Given the description of an element on the screen output the (x, y) to click on. 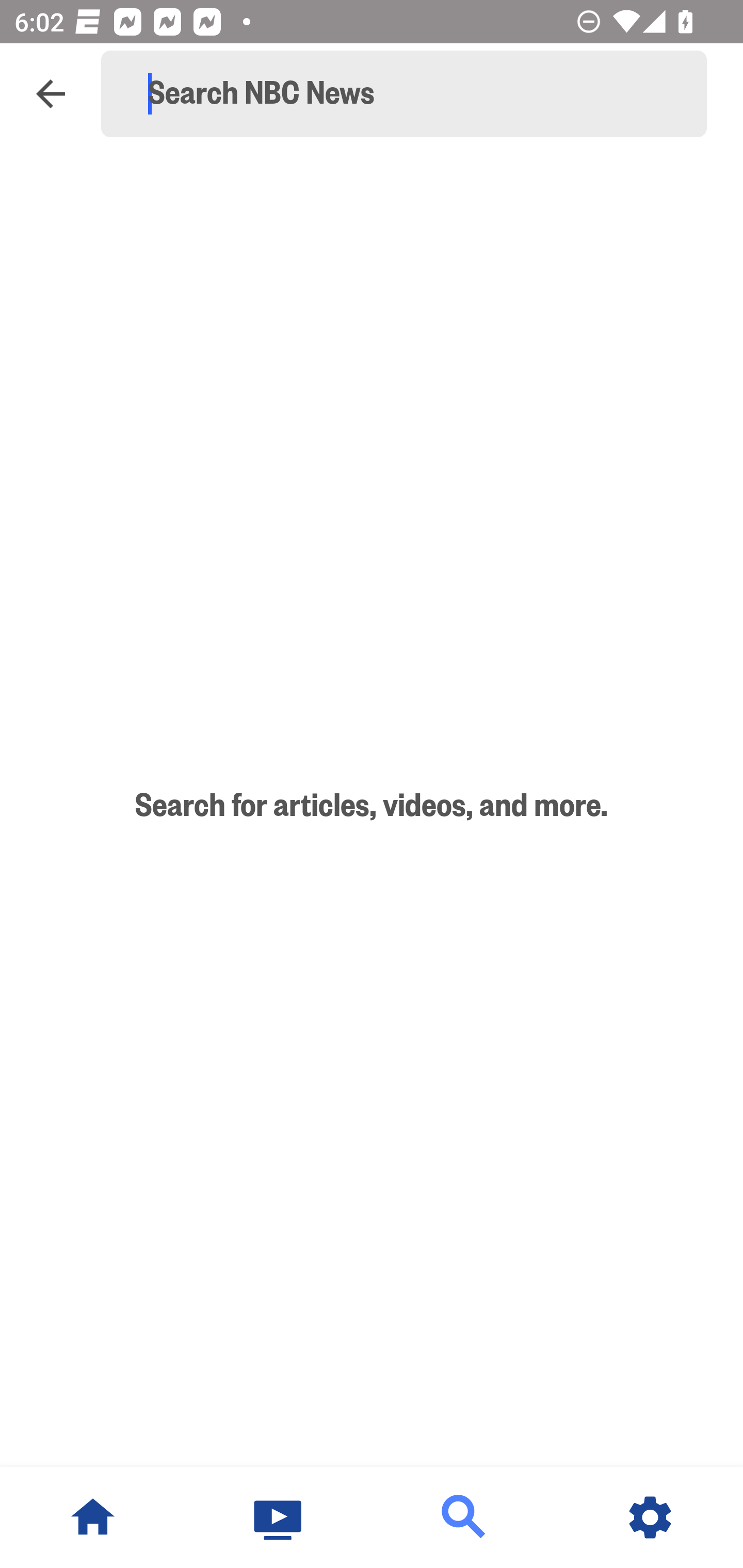
Navigate up (50, 93)
Search NBC News (412, 94)
NBC News Home (92, 1517)
Watch (278, 1517)
Settings (650, 1517)
